Given the description of an element on the screen output the (x, y) to click on. 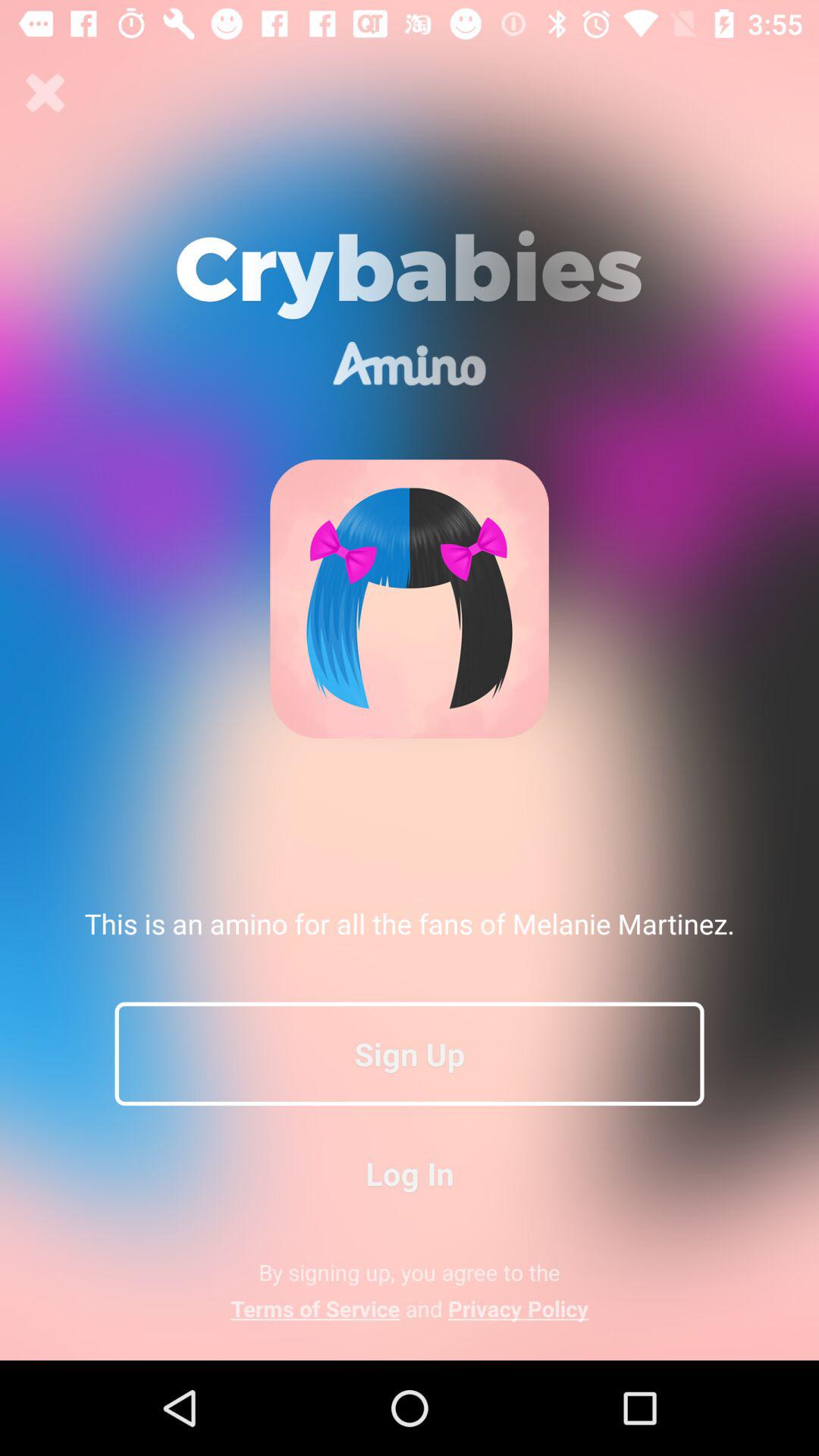
launch the terms of service icon (409, 1308)
